Given the description of an element on the screen output the (x, y) to click on. 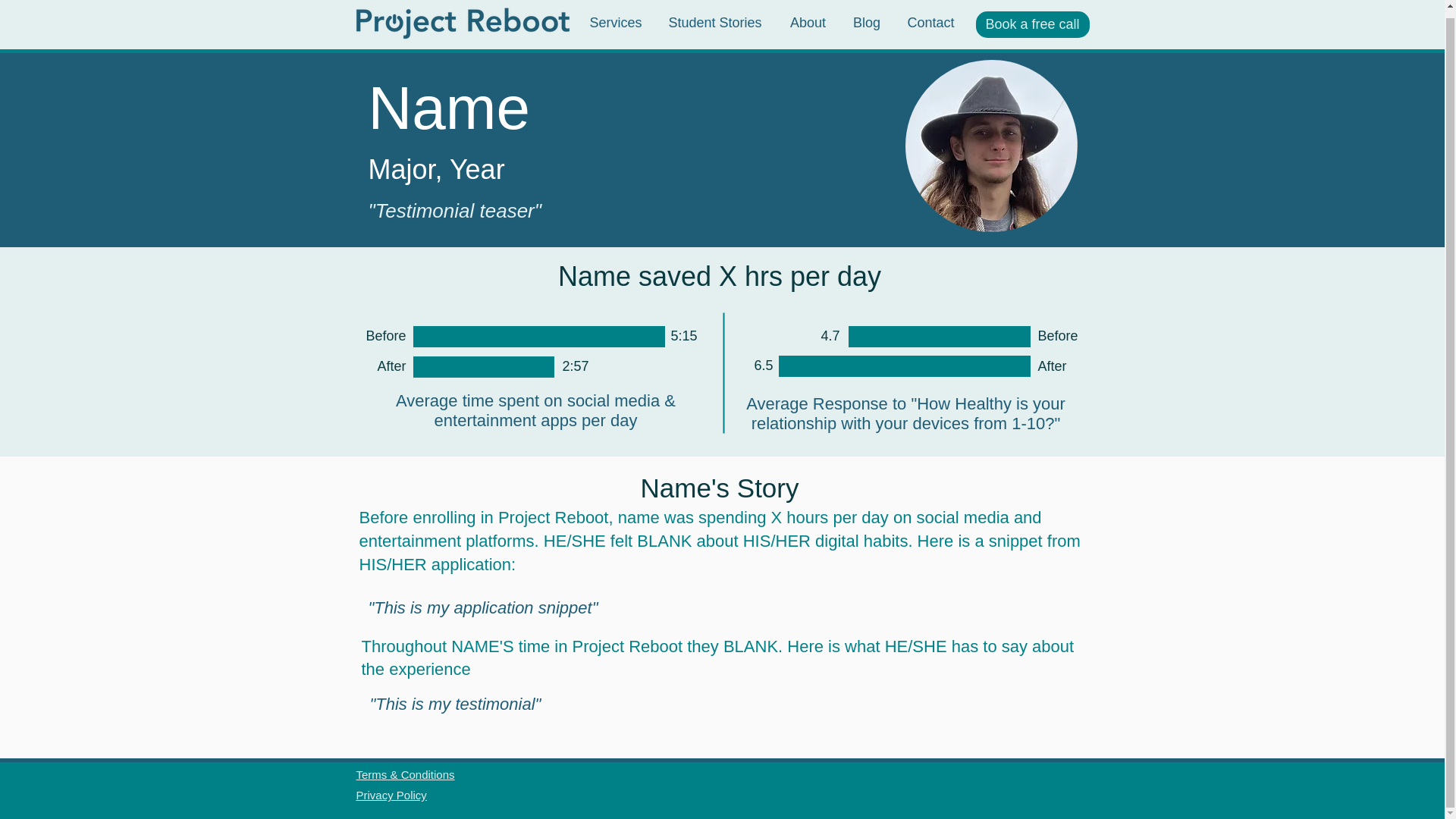
Student Stories (714, 17)
Blog (866, 17)
Contact (930, 17)
Services (615, 17)
Book a free call (1032, 17)
About (808, 17)
Privacy Policy (391, 794)
